Given the description of an element on the screen output the (x, y) to click on. 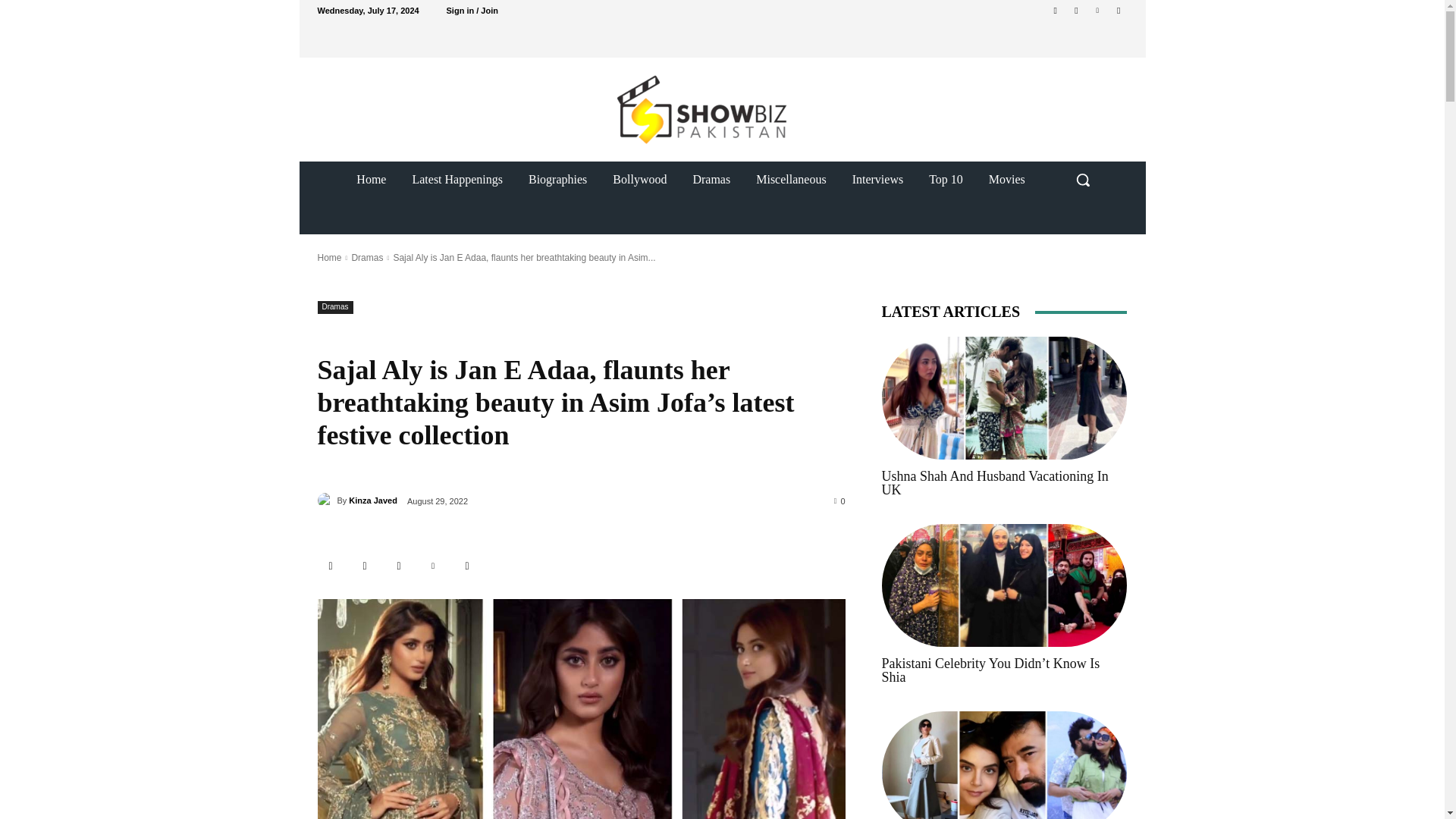
Biographies (557, 179)
Facebook (1055, 9)
Whatsapp (466, 565)
Kinza Javed (373, 499)
Kinza Javed (326, 500)
Latest Happenings (456, 179)
Pinterest (433, 565)
Home (328, 257)
Miscellaneous (790, 179)
Pinterest (1097, 9)
Home (370, 179)
View all posts in Dramas (366, 257)
Dramas (710, 179)
Instagram (1075, 9)
Youtube (1117, 9)
